Given the description of an element on the screen output the (x, y) to click on. 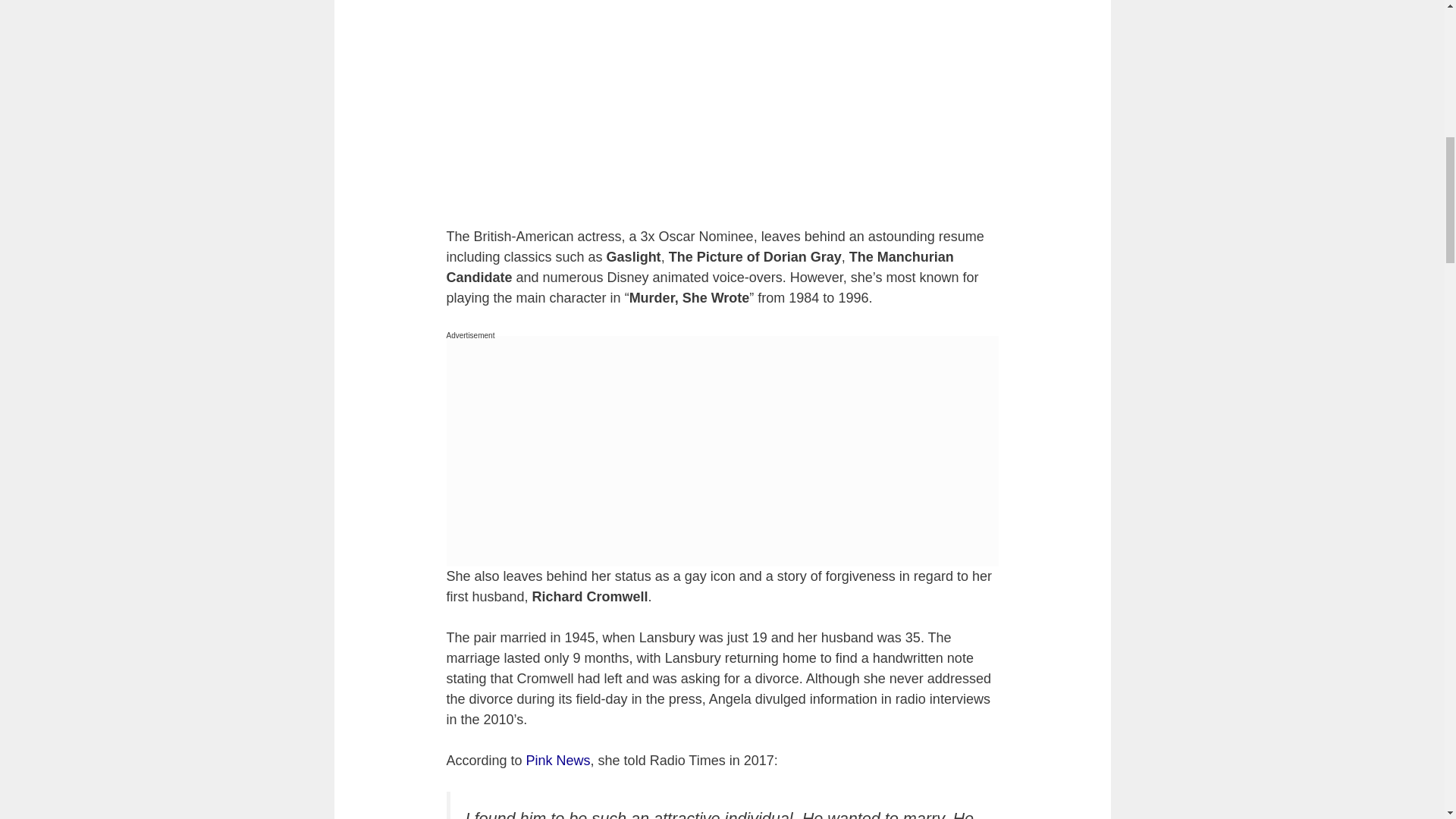
Pink News (558, 760)
